Given the description of an element on the screen output the (x, y) to click on. 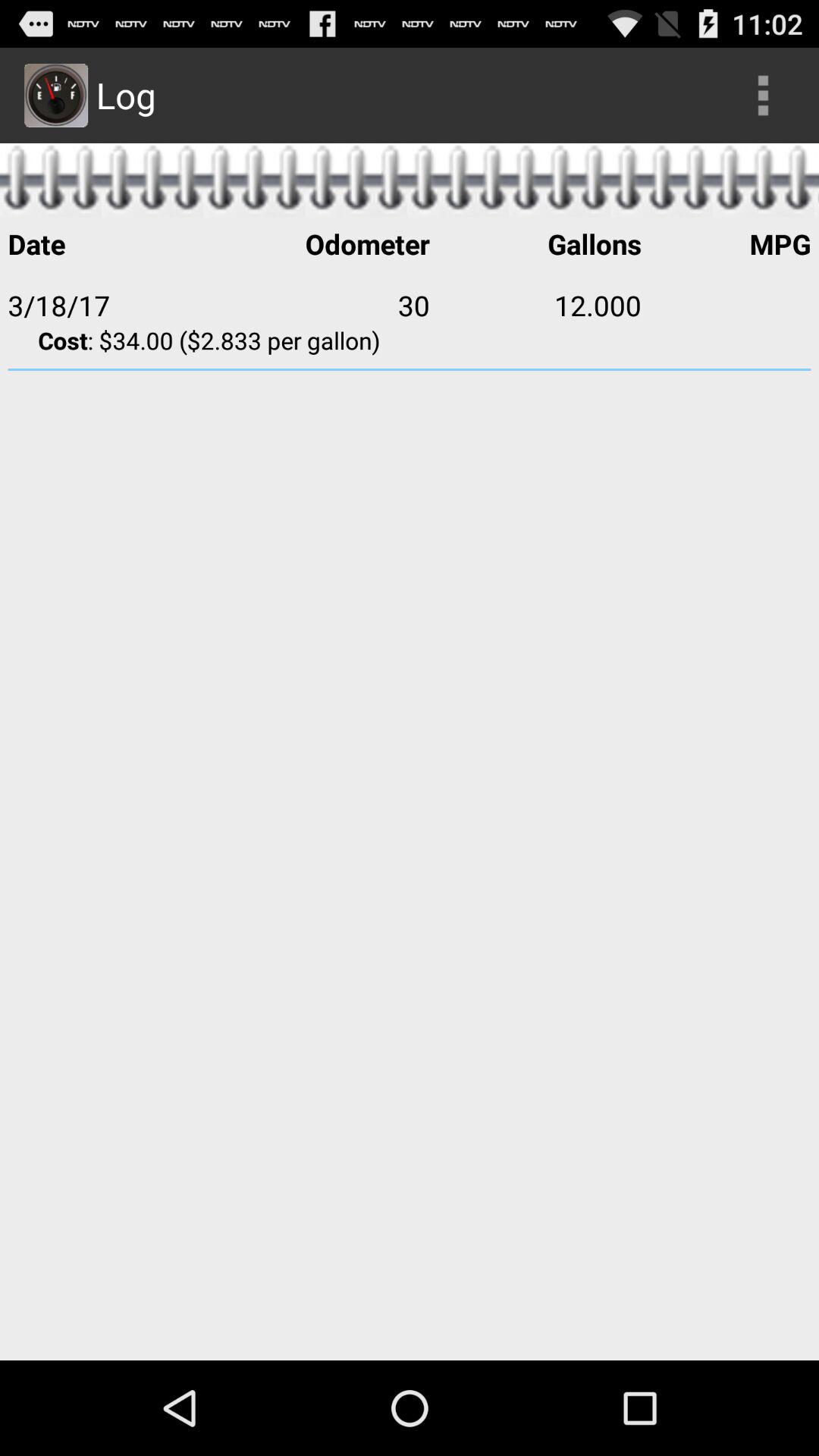
more option (763, 95)
